Given the description of an element on the screen output the (x, y) to click on. 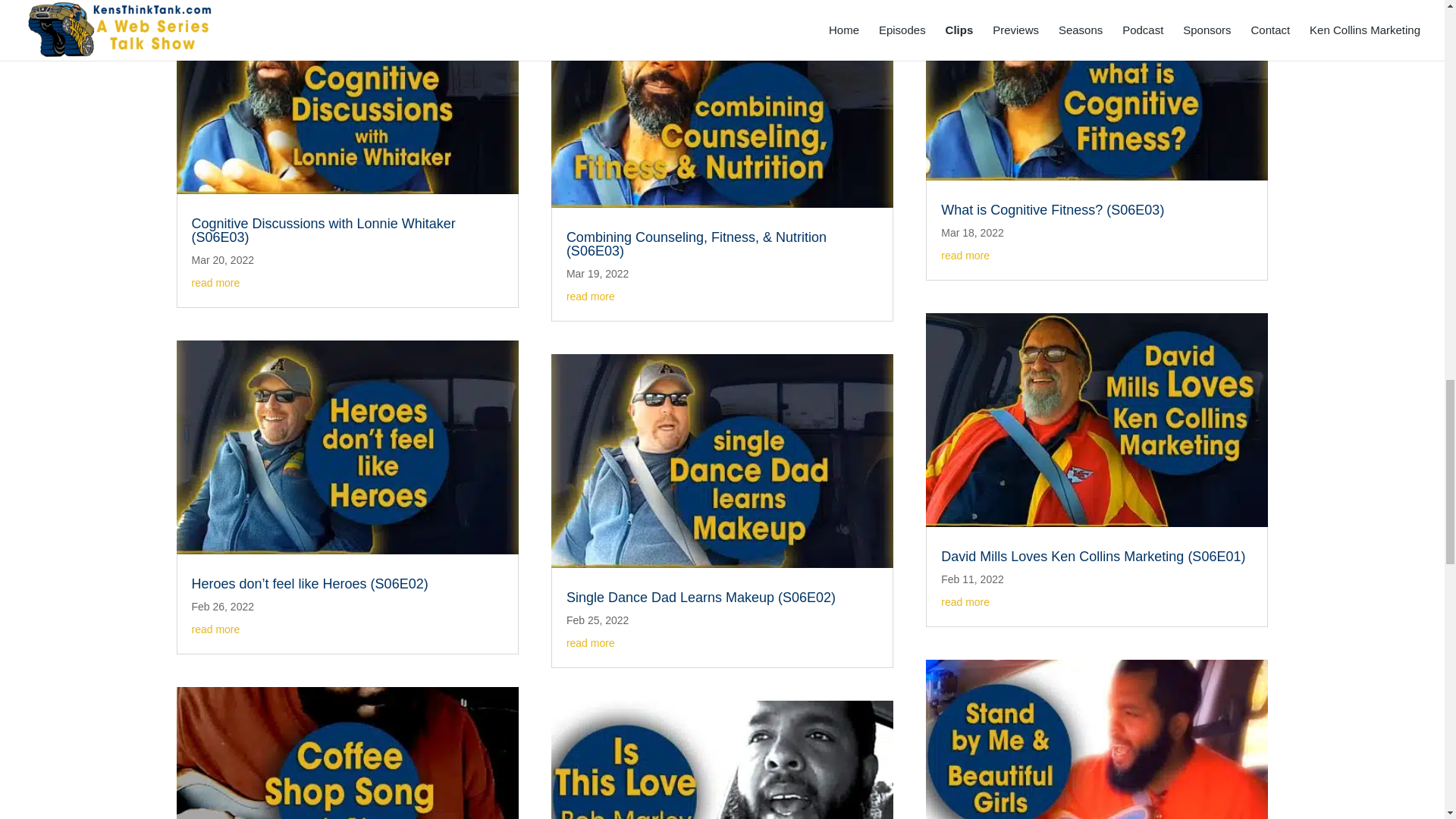
read more (215, 282)
read more (215, 629)
